Given the description of an element on the screen output the (x, y) to click on. 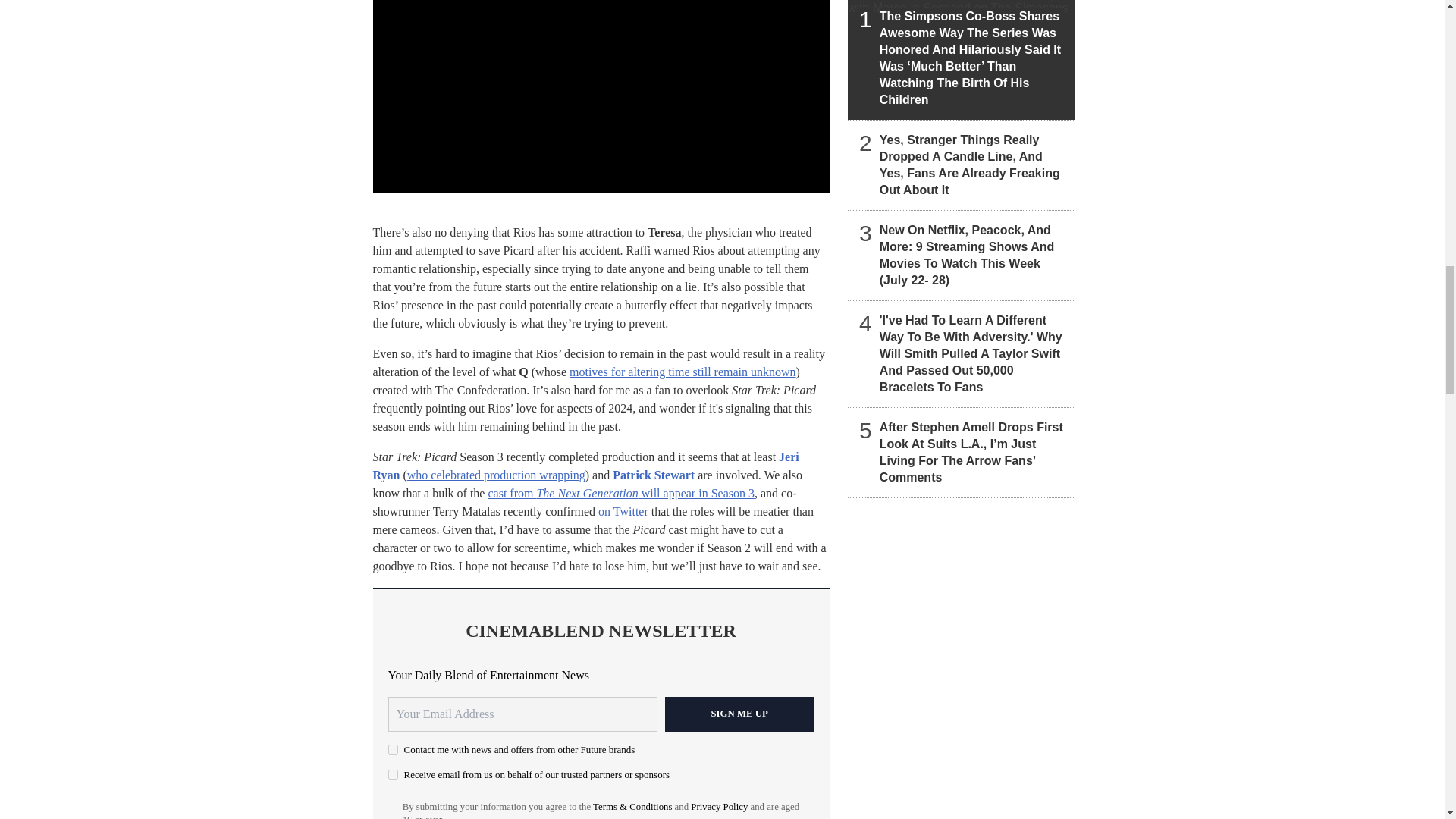
on (392, 749)
on (392, 774)
Sign me up (739, 714)
